Given the description of an element on the screen output the (x, y) to click on. 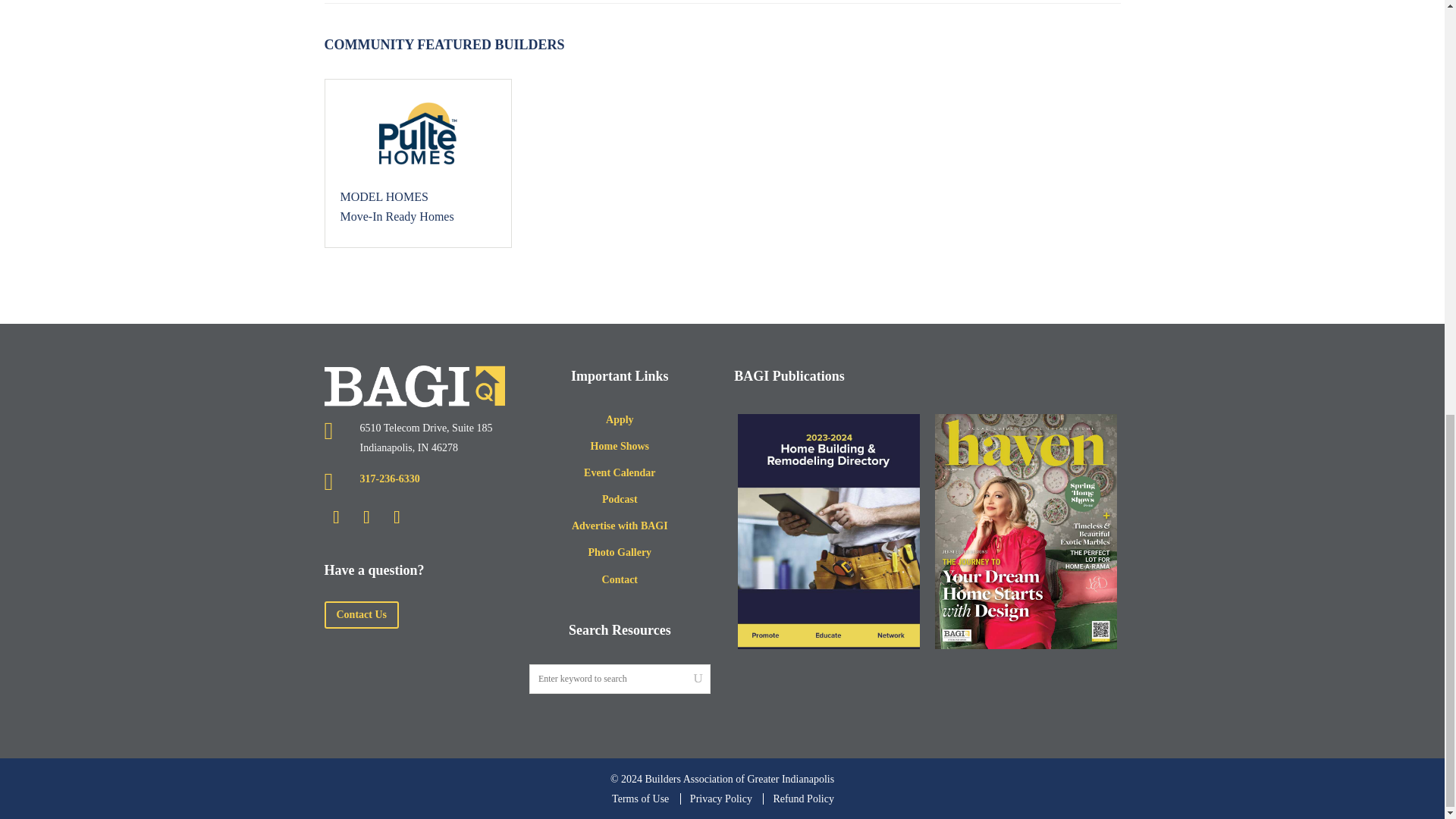
Mill Ridge Farms (417, 133)
Search for: (619, 678)
Follow on Facebook (366, 517)
Follow on Instagram (397, 517)
Follow on LinkedIn (336, 517)
BAGI-White-Logo (414, 386)
